Given the description of an element on the screen output the (x, y) to click on. 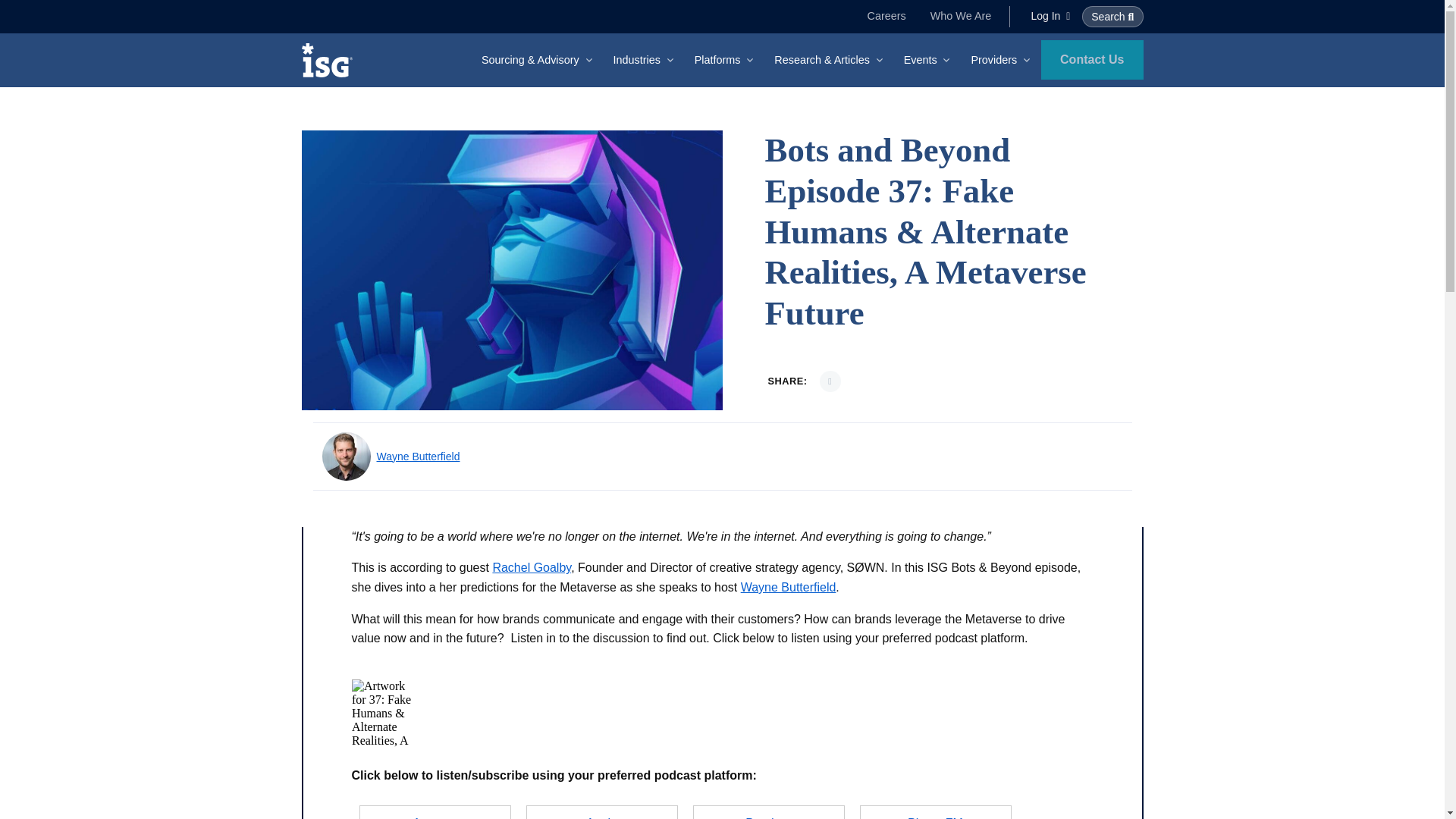
ISG (331, 59)
Industries (644, 59)
Search (1111, 16)
Who We Are (961, 16)
Log In (1050, 15)
Libsyn Player (722, 713)
Careers (887, 16)
